Given the description of an element on the screen output the (x, y) to click on. 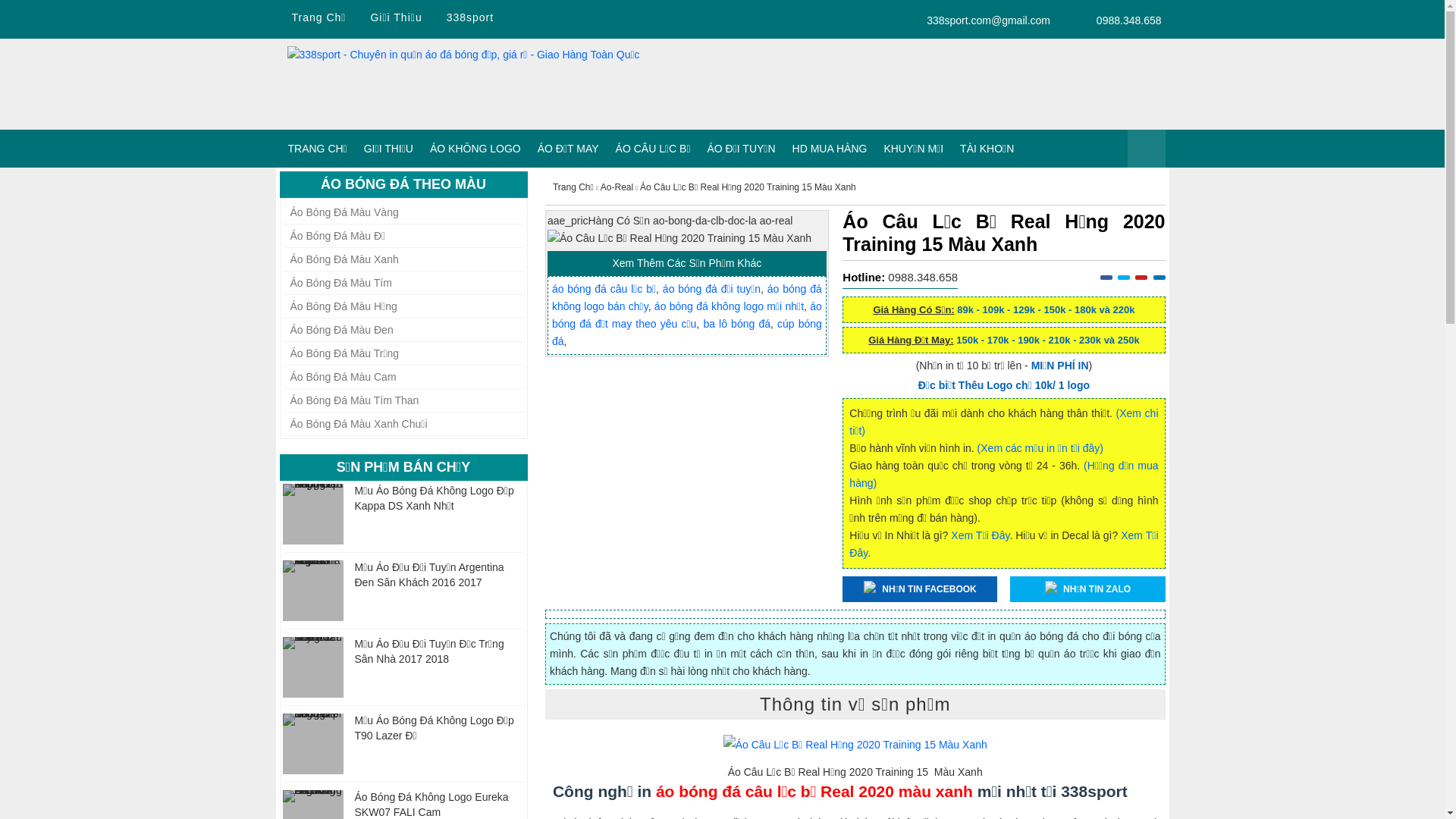
0988.348.658 Element type: text (922, 276)
0988.348.658 Element type: text (1111, 19)
Ao-Real Element type: text (616, 187)
338sport.com@gmail.com Element type: text (977, 19)
338sport Element type: text (469, 17)
